Given the description of an element on the screen output the (x, y) to click on. 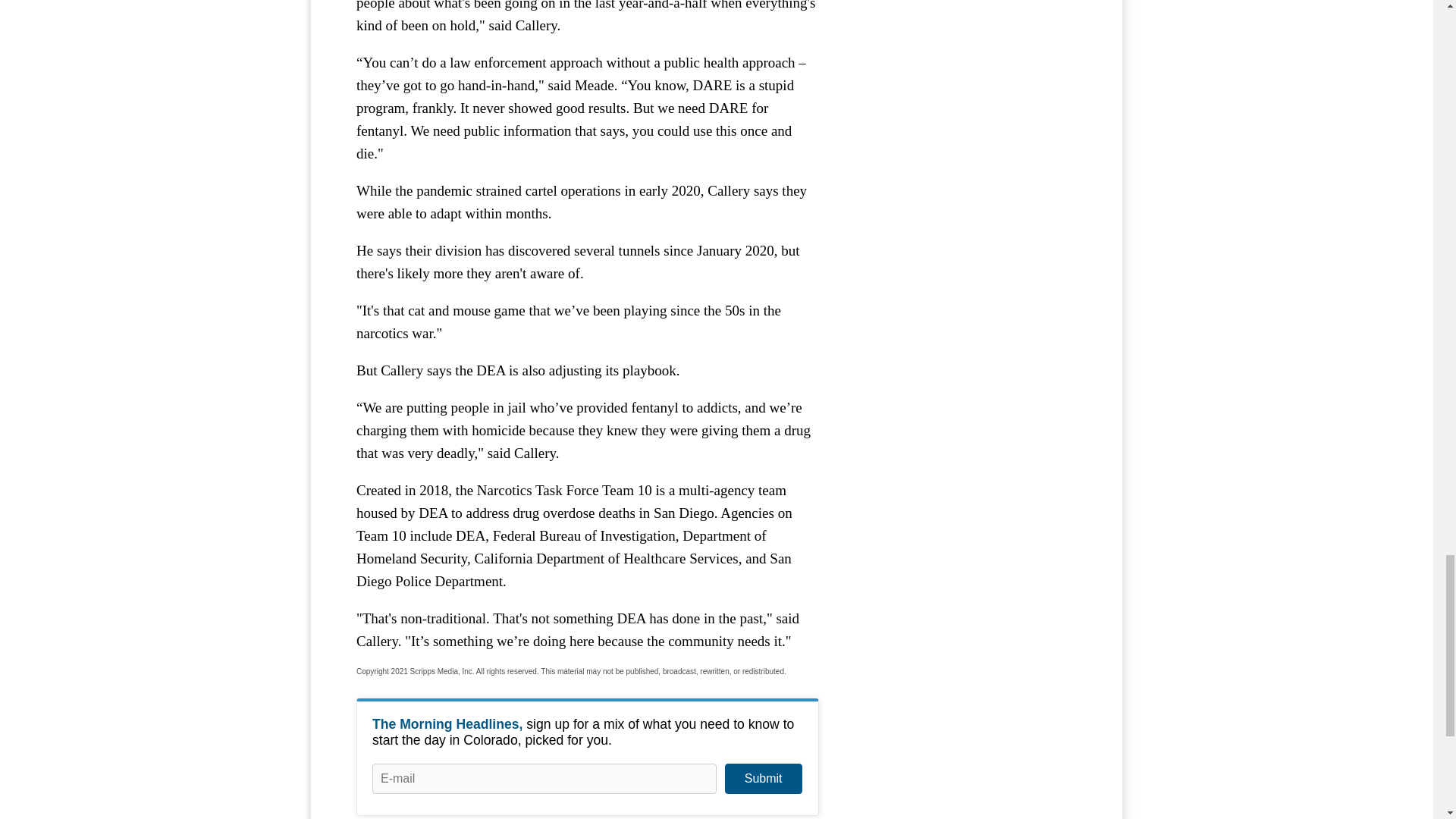
Submit (763, 778)
